Given the description of an element on the screen output the (x, y) to click on. 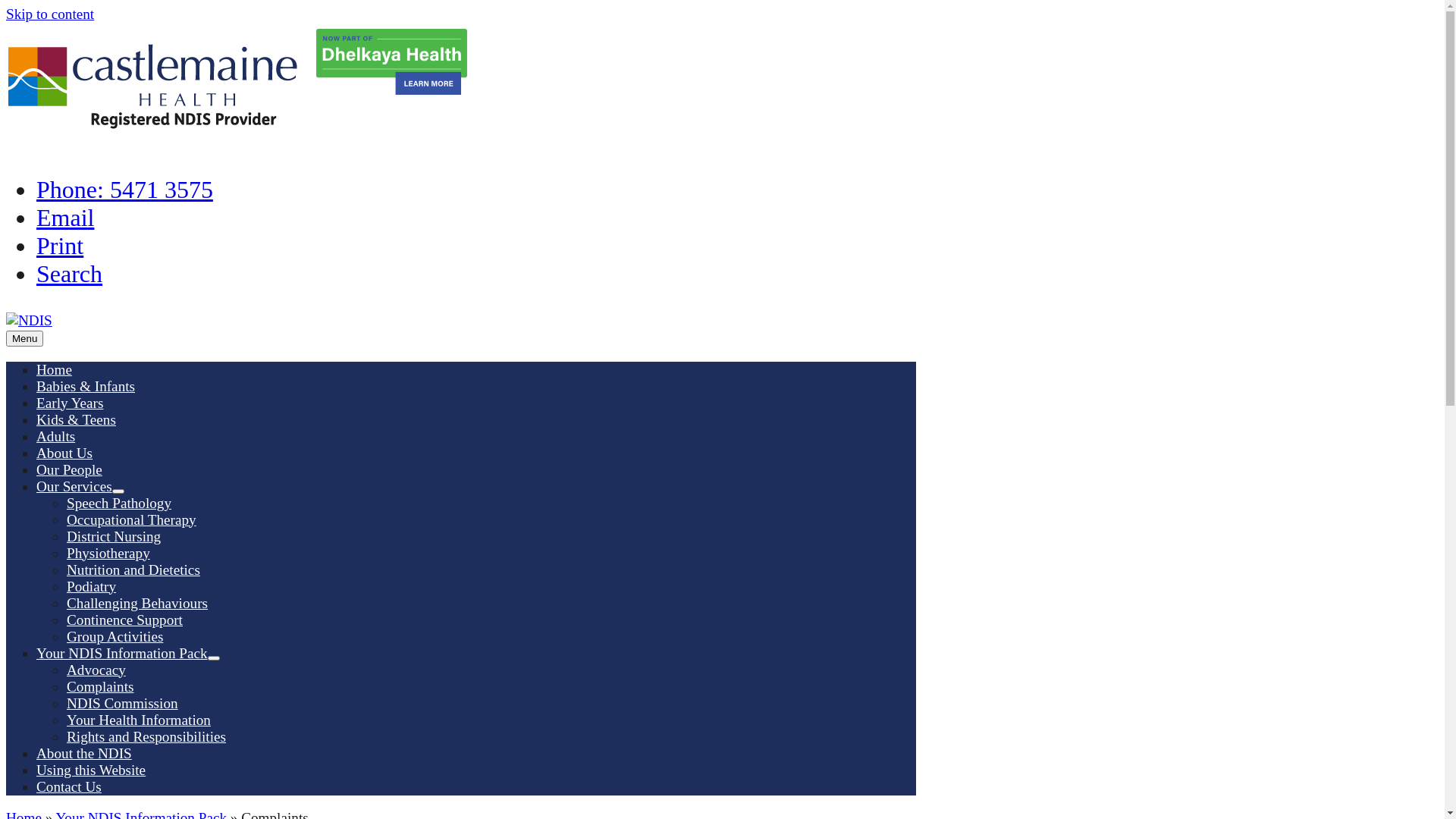
Adults Element type: text (55, 436)
Occupational Therapy Element type: text (131, 519)
Show sub menu for Your NDIS Information Pack Element type: text (213, 657)
Group Activities Element type: text (114, 636)
Nutrition and Dietetics Element type: text (133, 569)
Print Element type: text (59, 245)
Complaints Element type: text (99, 686)
Search Element type: text (69, 273)
Your NDIS Information Pack Element type: text (121, 653)
Menu Element type: text (24, 338)
Your Health Information Element type: text (138, 720)
District Nursing Element type: text (113, 536)
Phone: 5471 3575 Element type: text (124, 189)
NDIS Commission Element type: text (122, 703)
Podiatry Element type: text (91, 586)
Contact Us Element type: text (68, 786)
Speech Pathology Element type: text (118, 503)
Physiotherapy Element type: text (108, 553)
Rights and Responsibilities Element type: text (145, 736)
Show sub menu for Our Services Element type: text (118, 491)
Using this Website Element type: text (90, 770)
Challenging Behaviours Element type: text (136, 603)
Kids & Teens Element type: text (76, 419)
Our People Element type: text (69, 469)
About the NDIS Element type: text (83, 753)
Home Element type: text (54, 369)
Continence Support Element type: text (124, 619)
Our Services Element type: text (74, 486)
Skip to content Element type: text (50, 13)
Email Element type: text (65, 217)
About Us Element type: text (64, 453)
Advocacy Element type: text (95, 669)
Early Years Element type: text (69, 403)
Babies & Infants Element type: text (85, 386)
